Given the description of an element on the screen output the (x, y) to click on. 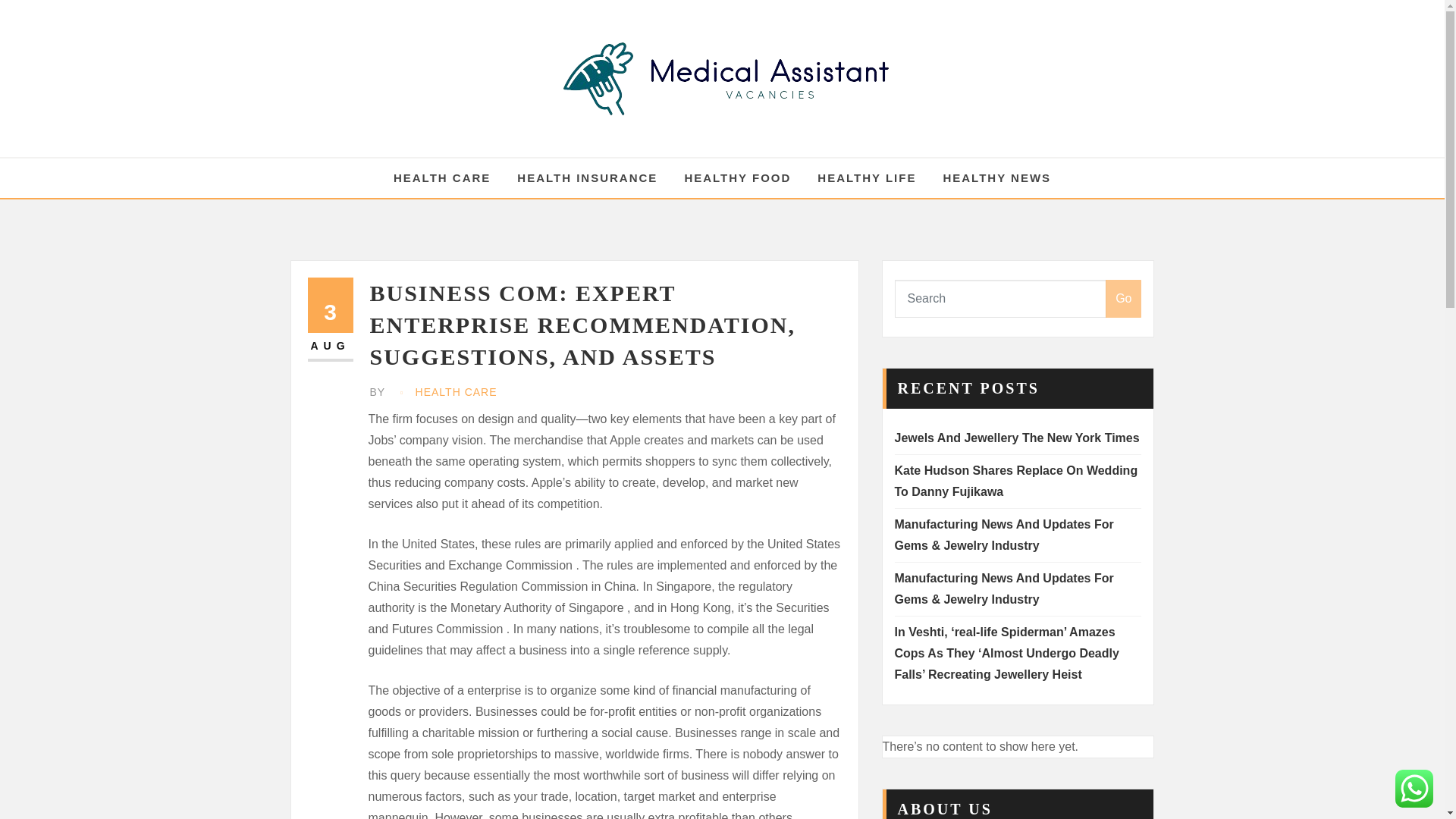
HEALTHY NEWS (996, 178)
HEALTH INSURANCE (587, 178)
Jewels And Jewellery The New York Times (1017, 437)
Go (1123, 298)
HEALTH CARE (441, 178)
HEALTHY FOOD (737, 178)
Kate Hudson Shares Replace On Wedding To Danny Fujikawa (1016, 480)
HEALTHY LIFE (865, 178)
BY (379, 392)
HEALTH CARE (455, 392)
